Given the description of an element on the screen output the (x, y) to click on. 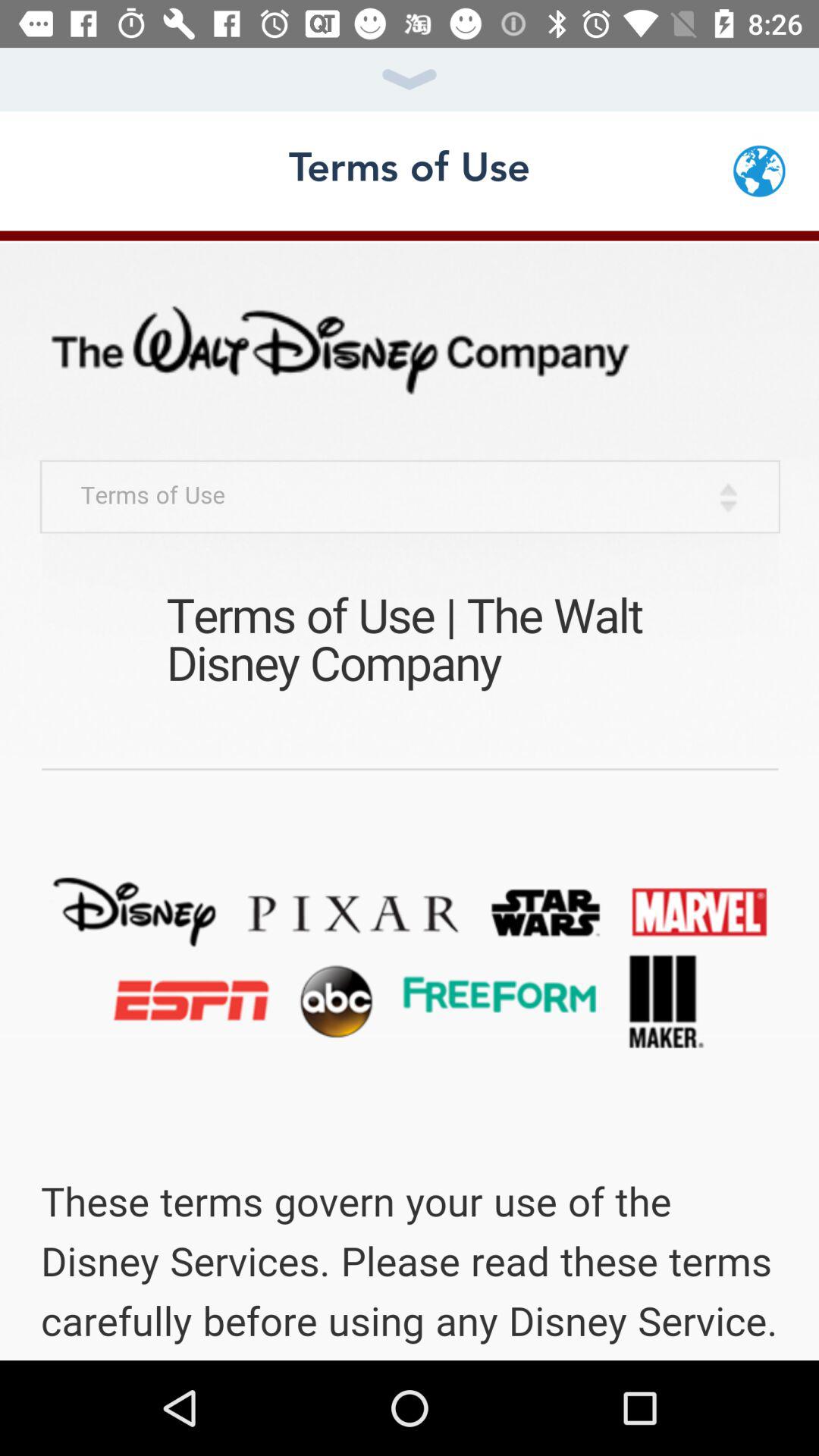
terms of use page (409, 795)
